Given the description of an element on the screen output the (x, y) to click on. 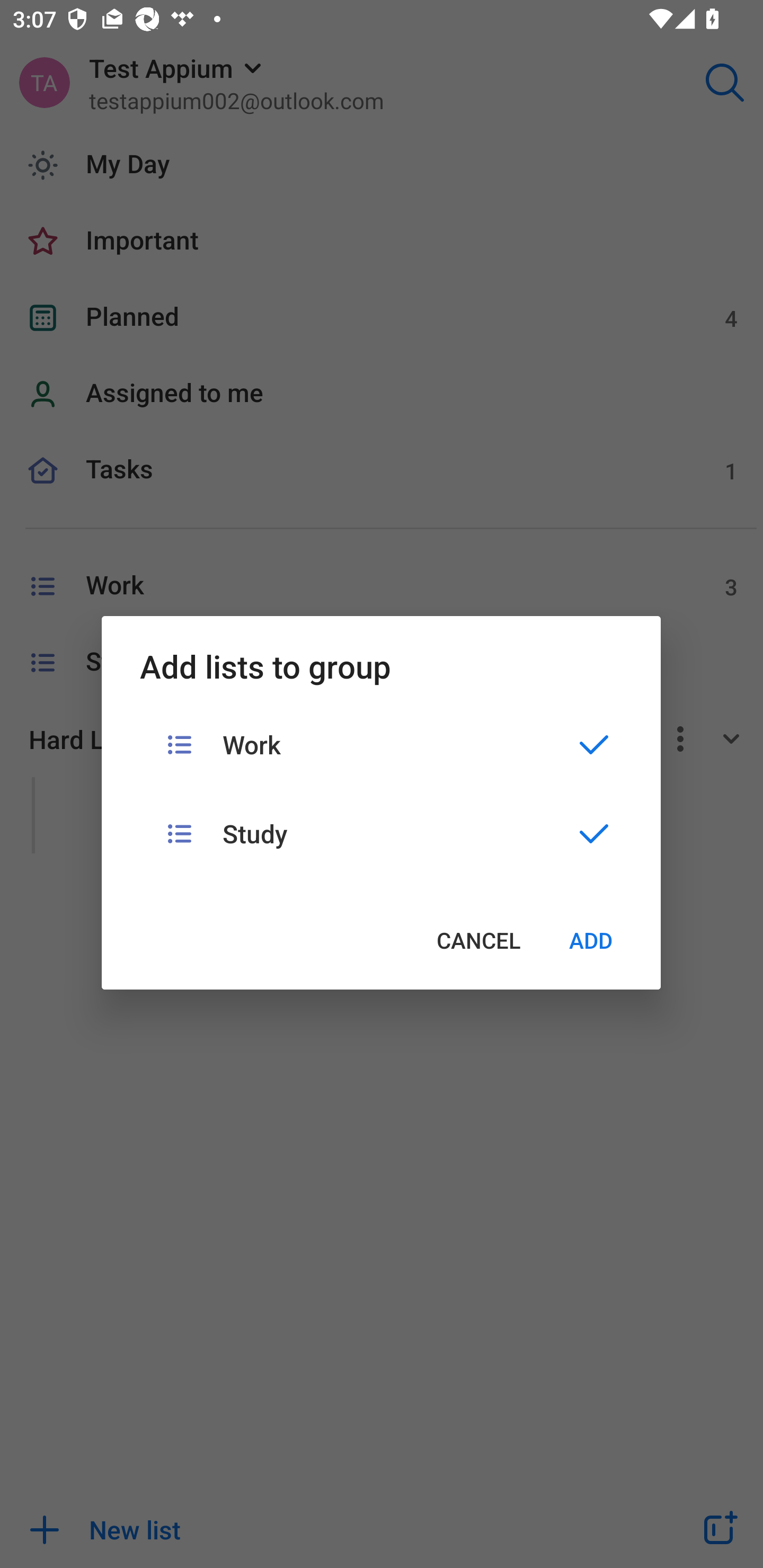
ADD (590, 939)
